Given the description of an element on the screen output the (x, y) to click on. 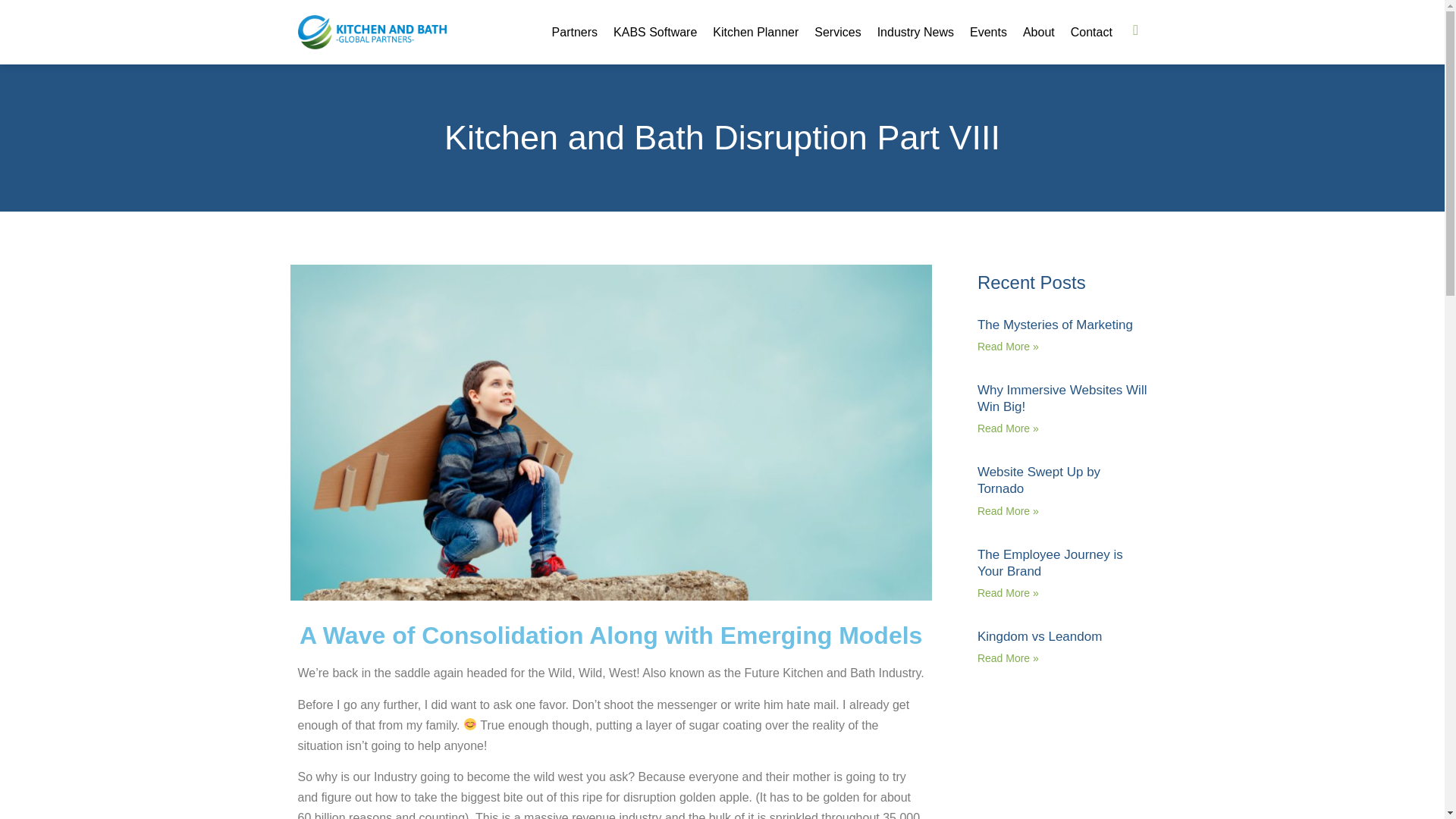
Partners (573, 32)
Kitchen Planner (755, 32)
The Mysteries of Marketing (1054, 324)
Industry News (915, 32)
KABS Software (654, 32)
Services (836, 32)
Contact (1091, 32)
Events (988, 32)
About (1038, 32)
